Given the description of an element on the screen output the (x, y) to click on. 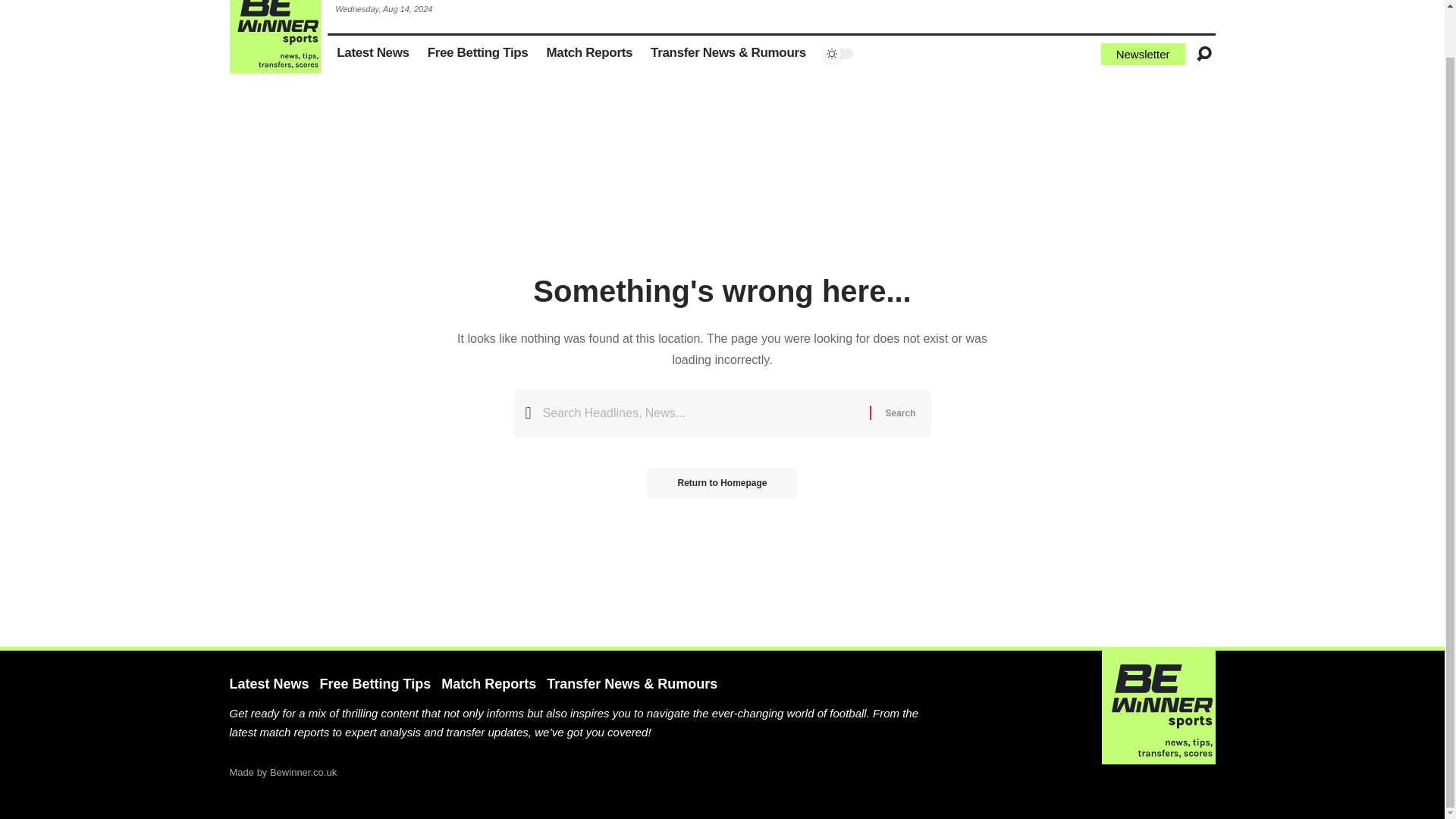
Match Reports (589, 54)
Search (899, 413)
Newsletter (1142, 54)
Latest News (372, 54)
Free Betting Tips (478, 54)
